Given the description of an element on the screen output the (x, y) to click on. 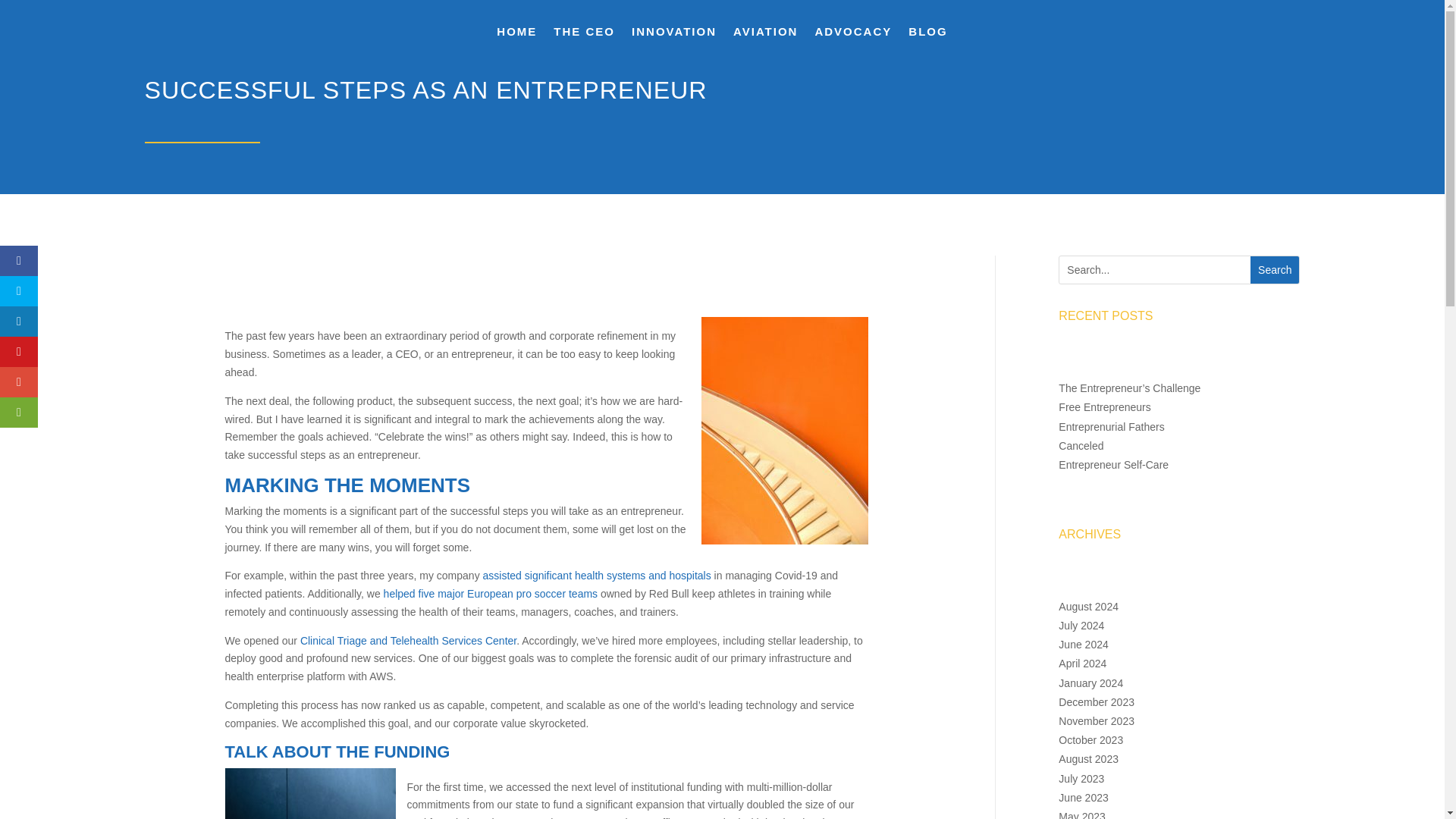
June 2024 (1083, 644)
Entreprenurial Fathers (1110, 426)
Search (1274, 269)
July 2023 (1080, 778)
AVIATION (765, 34)
INNOVATION (673, 34)
January 2024 (1090, 683)
May 2023 (1081, 814)
December 2023 (1096, 702)
Search (1274, 269)
